Given the description of an element on the screen output the (x, y) to click on. 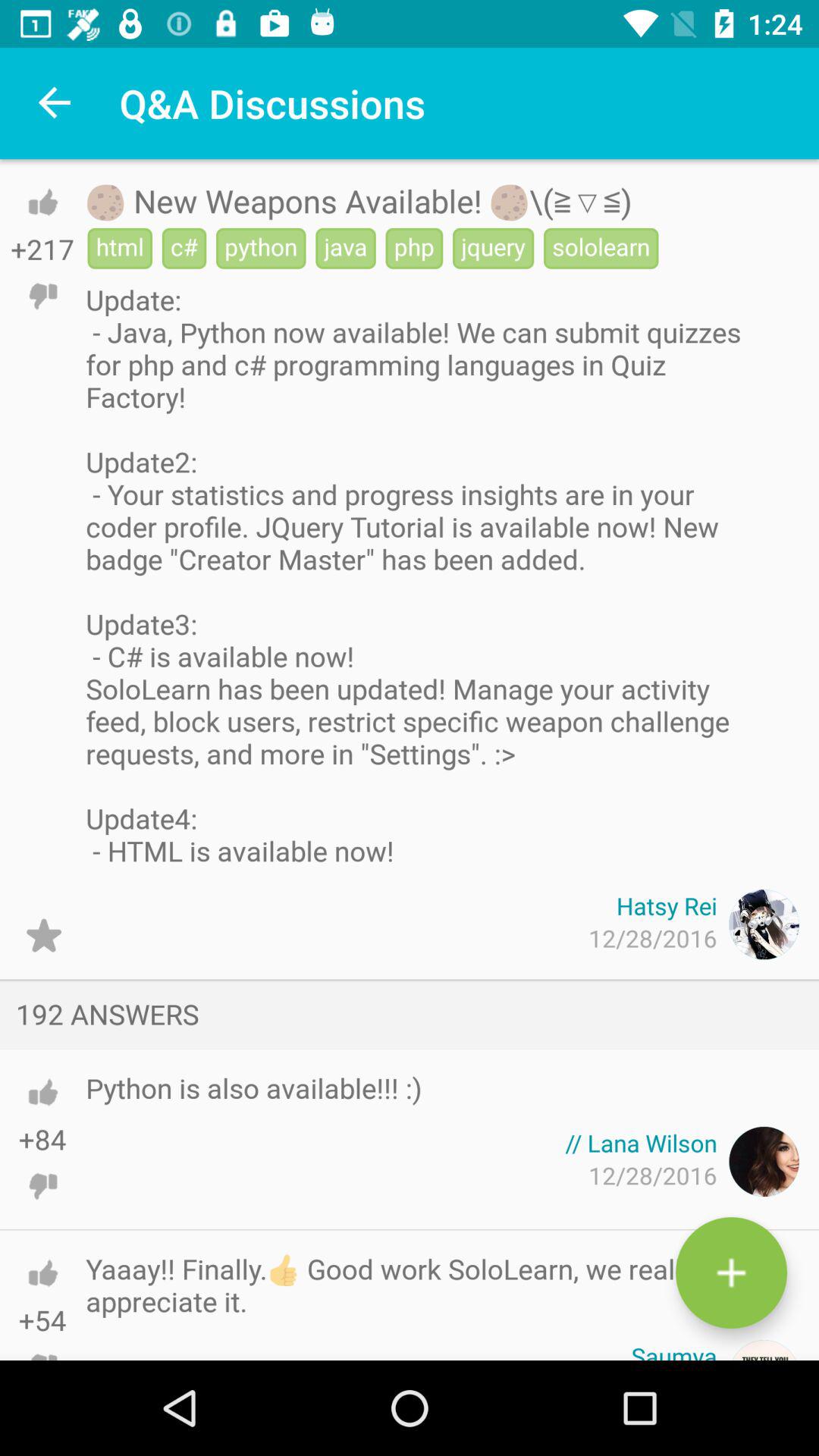
click like symbol (42, 1092)
